Given the description of an element on the screen output the (x, y) to click on. 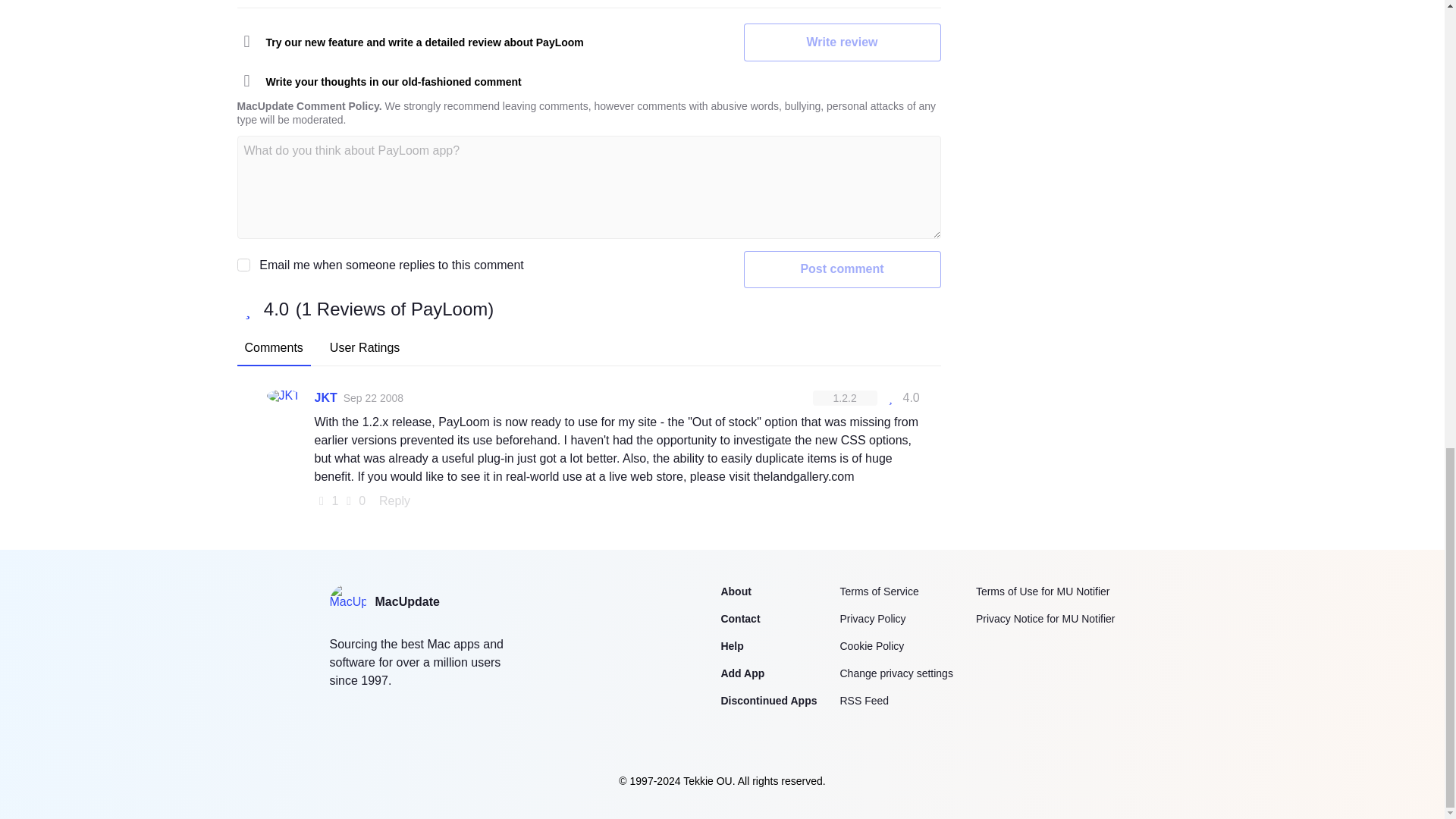
Version: 1.2.2 (844, 397)
JKT (325, 398)
